Given the description of an element on the screen output the (x, y) to click on. 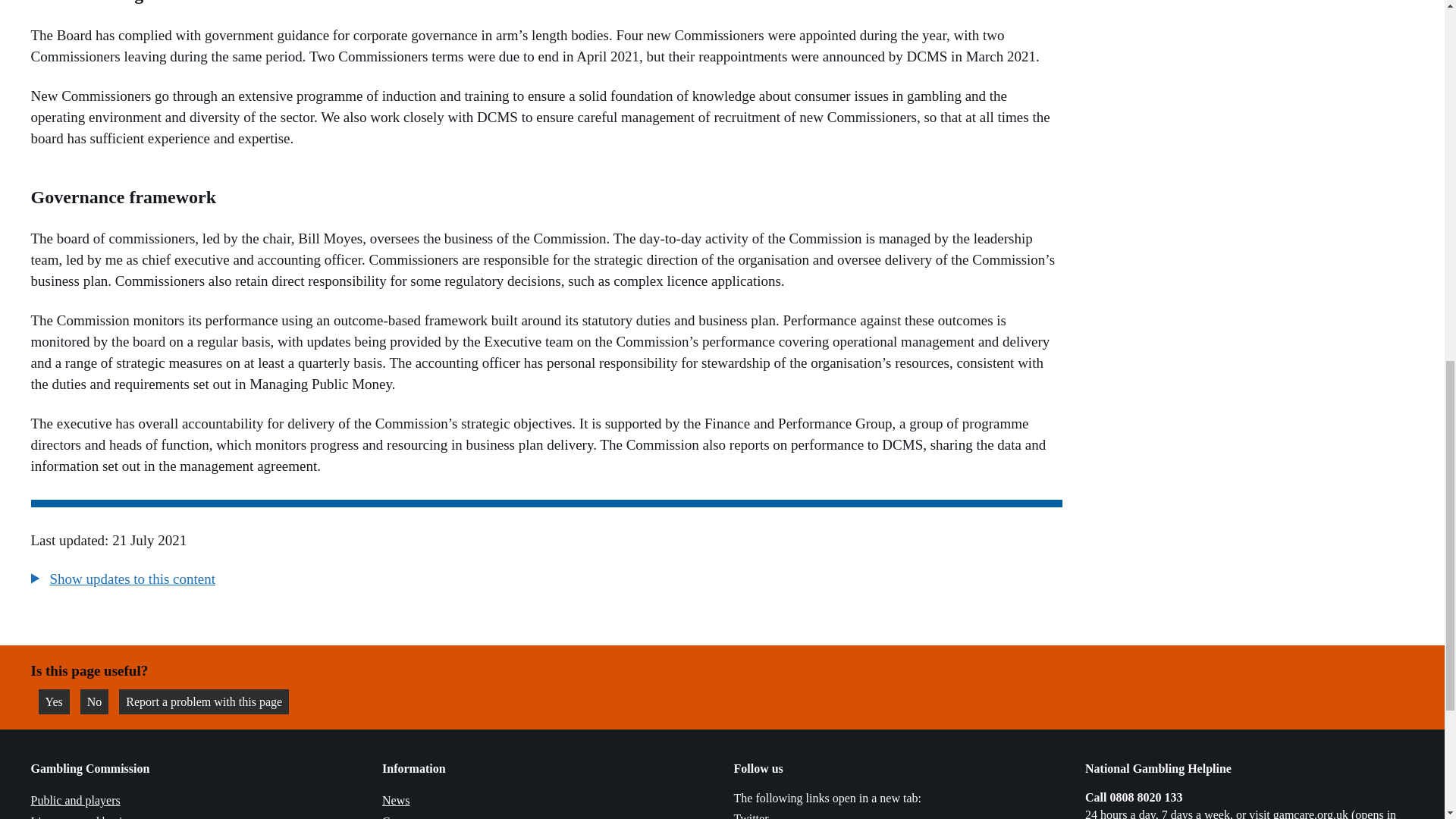
Link opens in a new tab (1240, 813)
Link opens in a new tab (94, 701)
Report a problem with this page (750, 815)
